Given the description of an element on the screen output the (x, y) to click on. 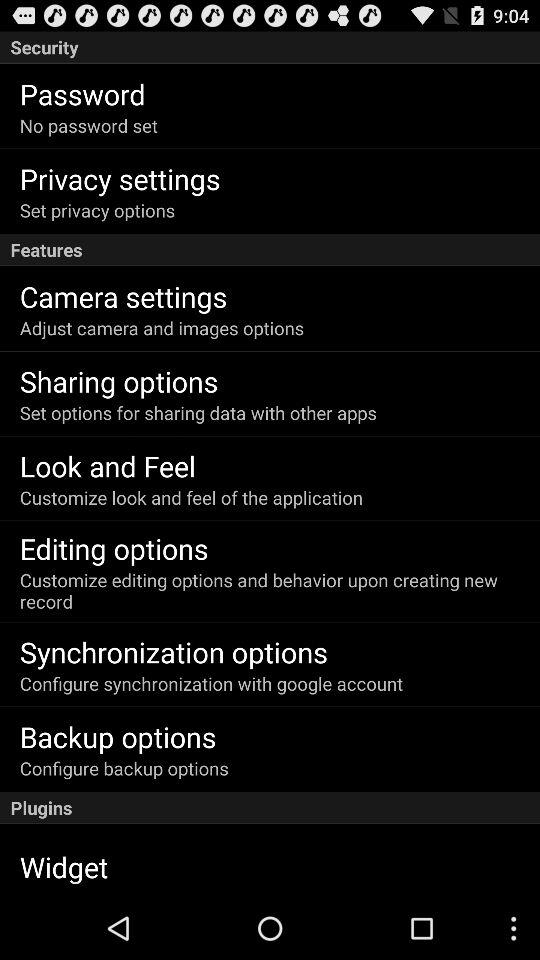
choose the icon above camera settings (270, 250)
